Given the description of an element on the screen output the (x, y) to click on. 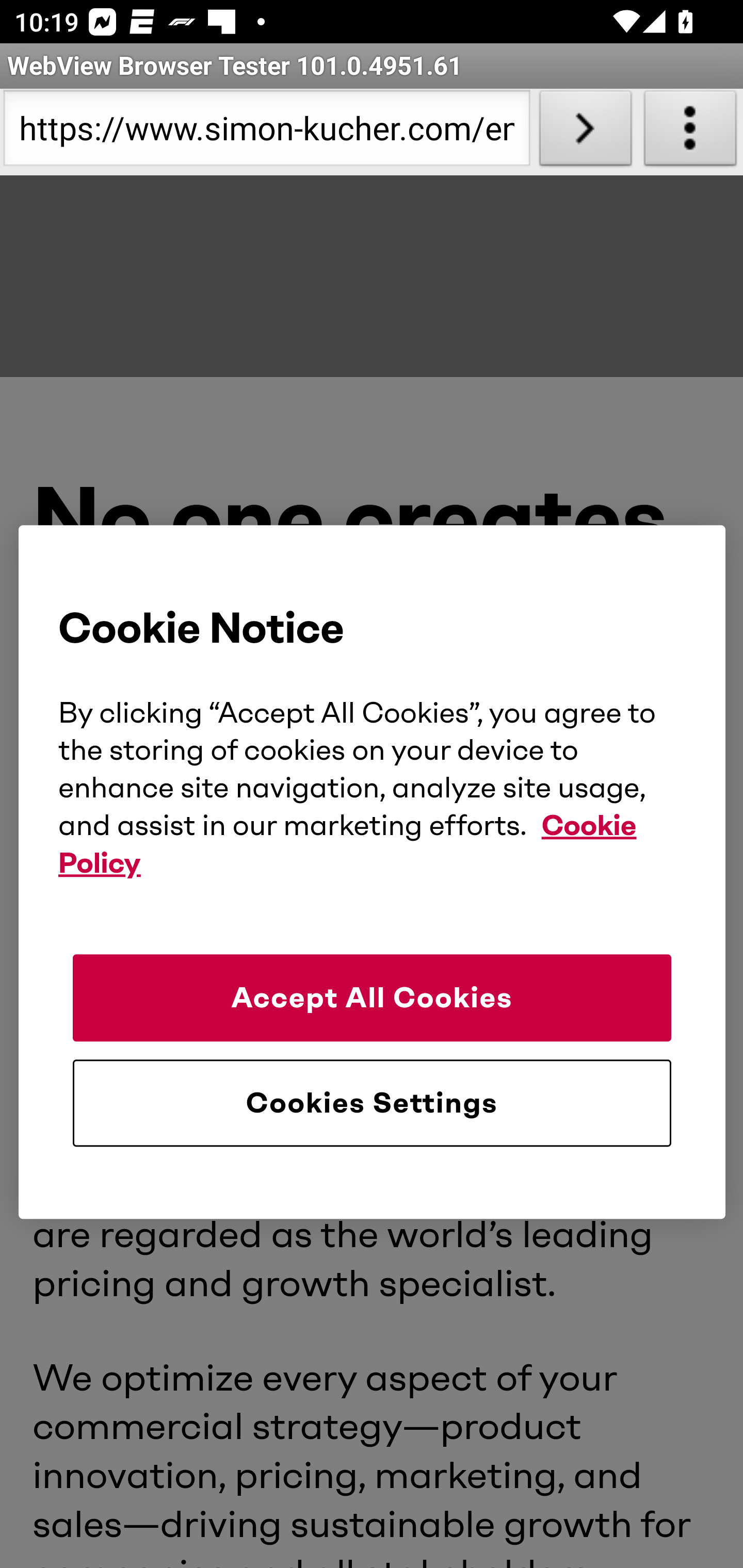
Load URL (585, 132)
About WebView (690, 132)
Accept All Cookies (371, 997)
Cookies Settings (371, 1103)
